Given the description of an element on the screen output the (x, y) to click on. 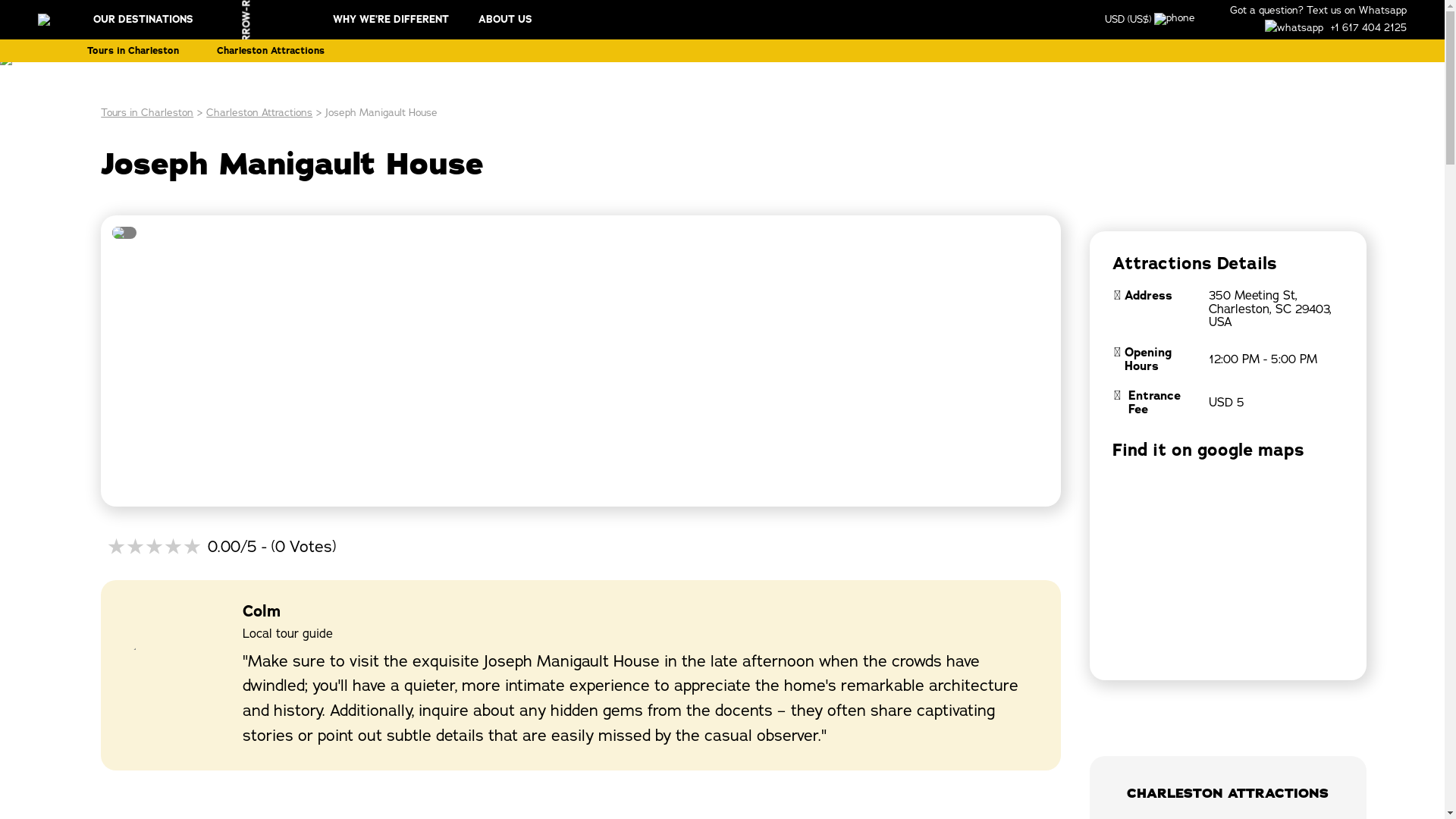
OUR DESTINATIONS (191, 19)
3 stars (153, 547)
5 stars (192, 547)
1 stars (115, 547)
4 stars (173, 547)
2 stars (134, 547)
